Given the description of an element on the screen output the (x, y) to click on. 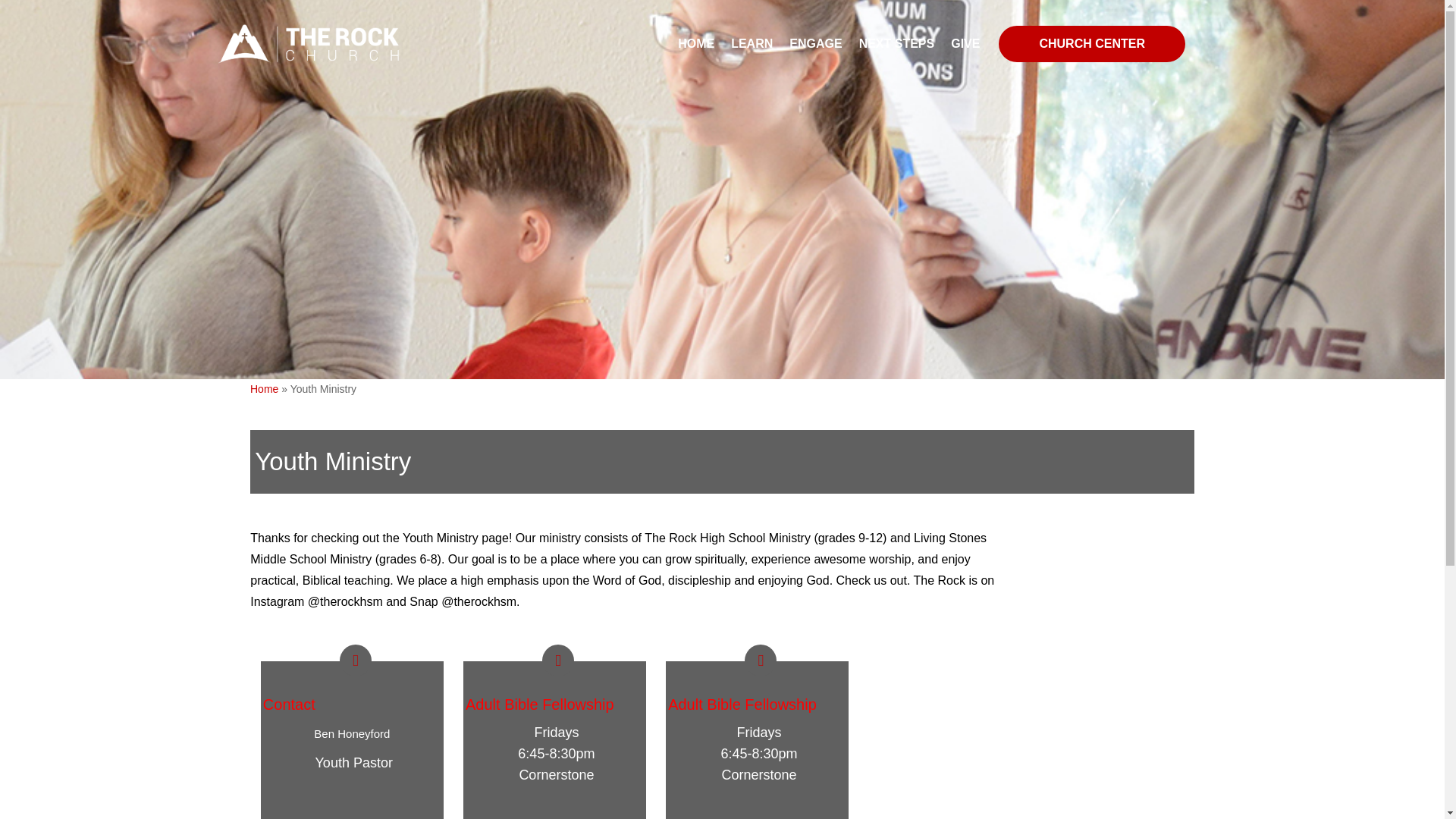
NEXT STEPS (896, 43)
CHURCH CENTER (1091, 43)
HOME (696, 43)
LEARN (751, 43)
GIVE (964, 43)
Home (264, 388)
ENGAGE (815, 43)
Ben Honeyford (352, 733)
